Given the description of an element on the screen output the (x, y) to click on. 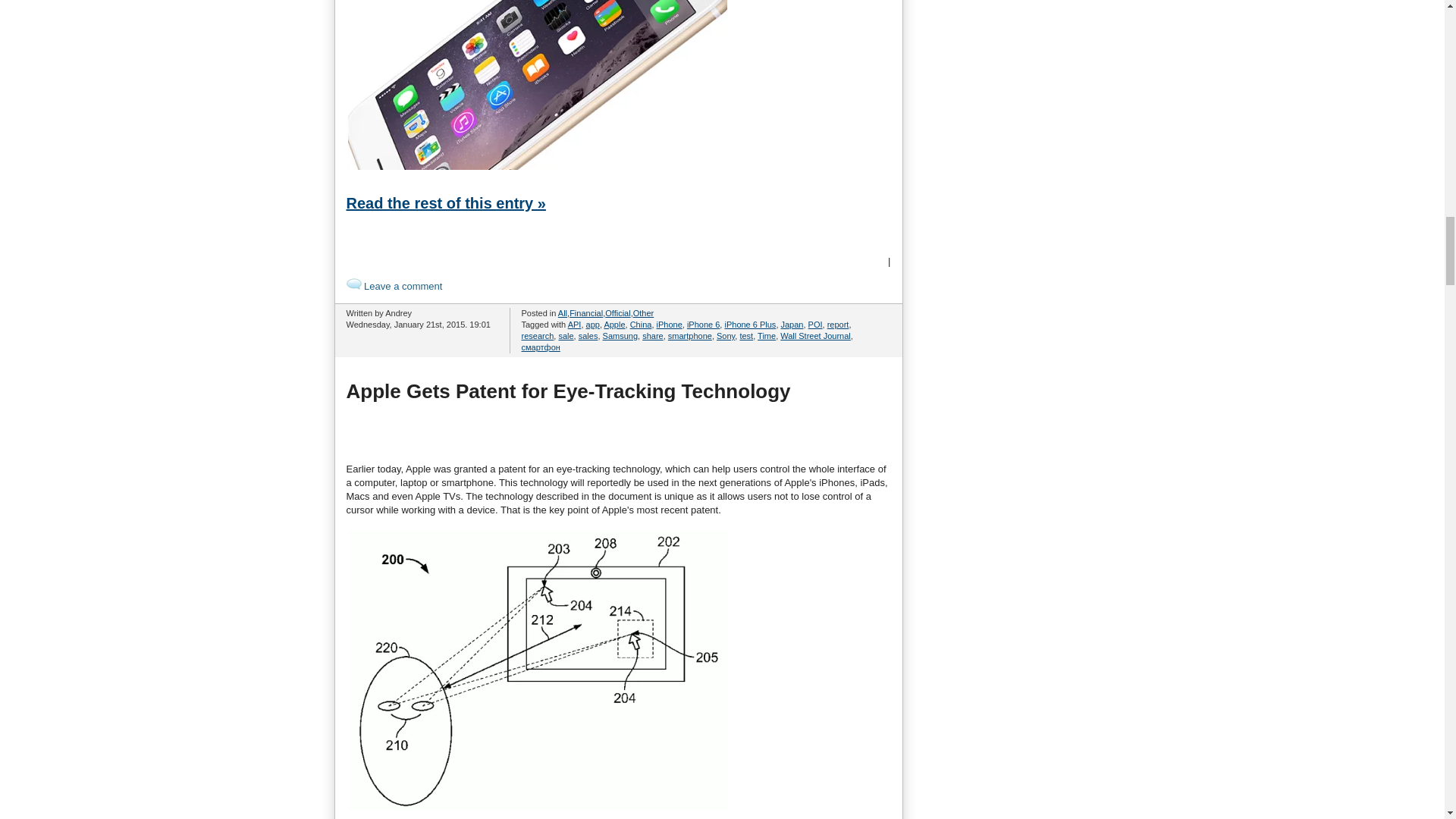
View all posts in Financial (585, 312)
View all posts in All (562, 312)
View all posts in Official (617, 312)
